Given the description of an element on the screen output the (x, y) to click on. 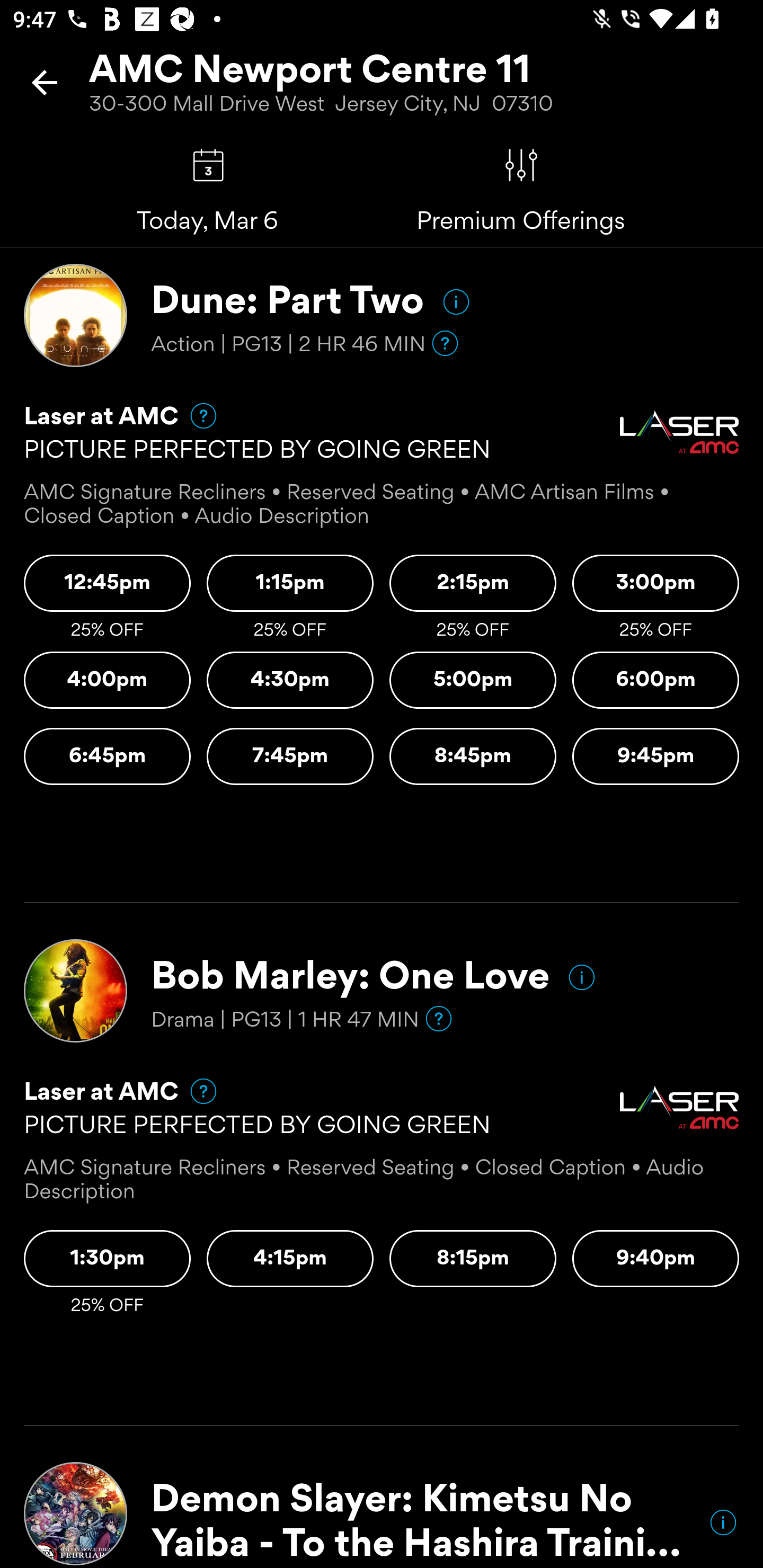
Back (44, 82)
Change selected day (208, 165)
Premium Offerings (520, 165)
Info (456, 301)
Help (444, 343)
Help (195, 415)
Info (581, 976)
Help (438, 1019)
Help (195, 1091)
Info (723, 1522)
